Given the description of an element on the screen output the (x, y) to click on. 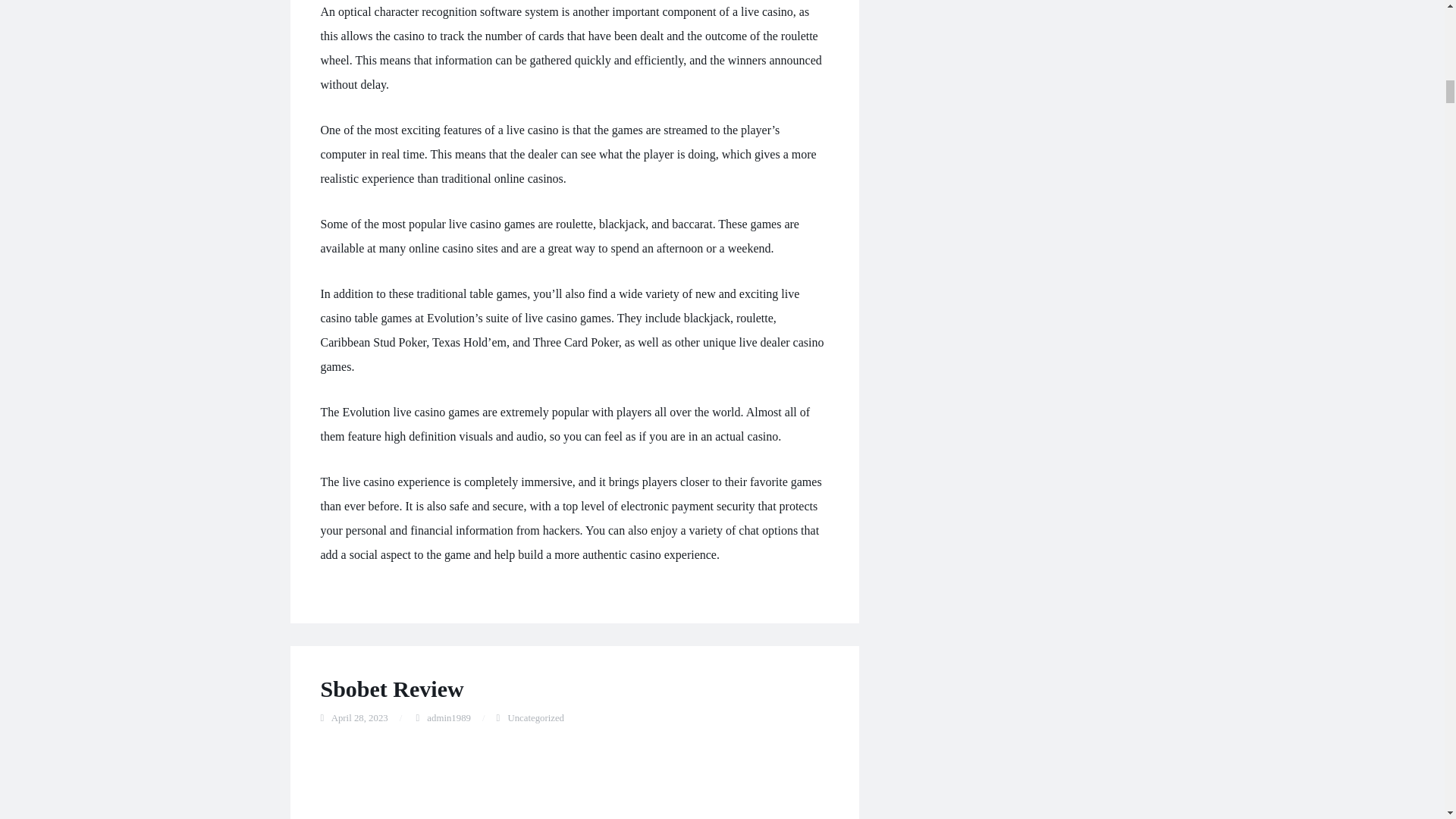
Uncategorized (535, 717)
Sbobet Review (391, 688)
admin1989 (448, 717)
April 28, 2023 (359, 717)
